Given the description of an element on the screen output the (x, y) to click on. 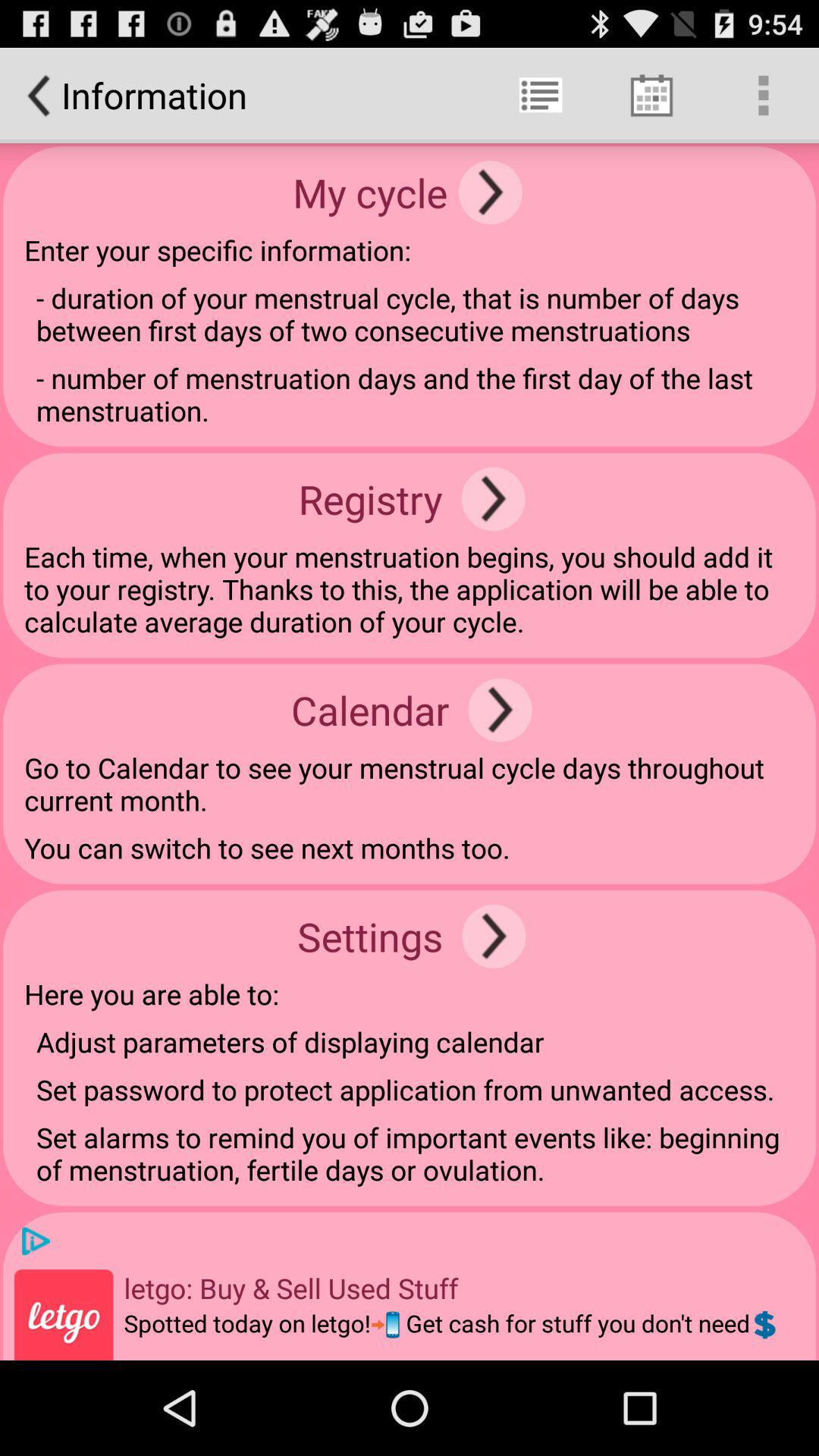
go to next page (490, 192)
